Given the description of an element on the screen output the (x, y) to click on. 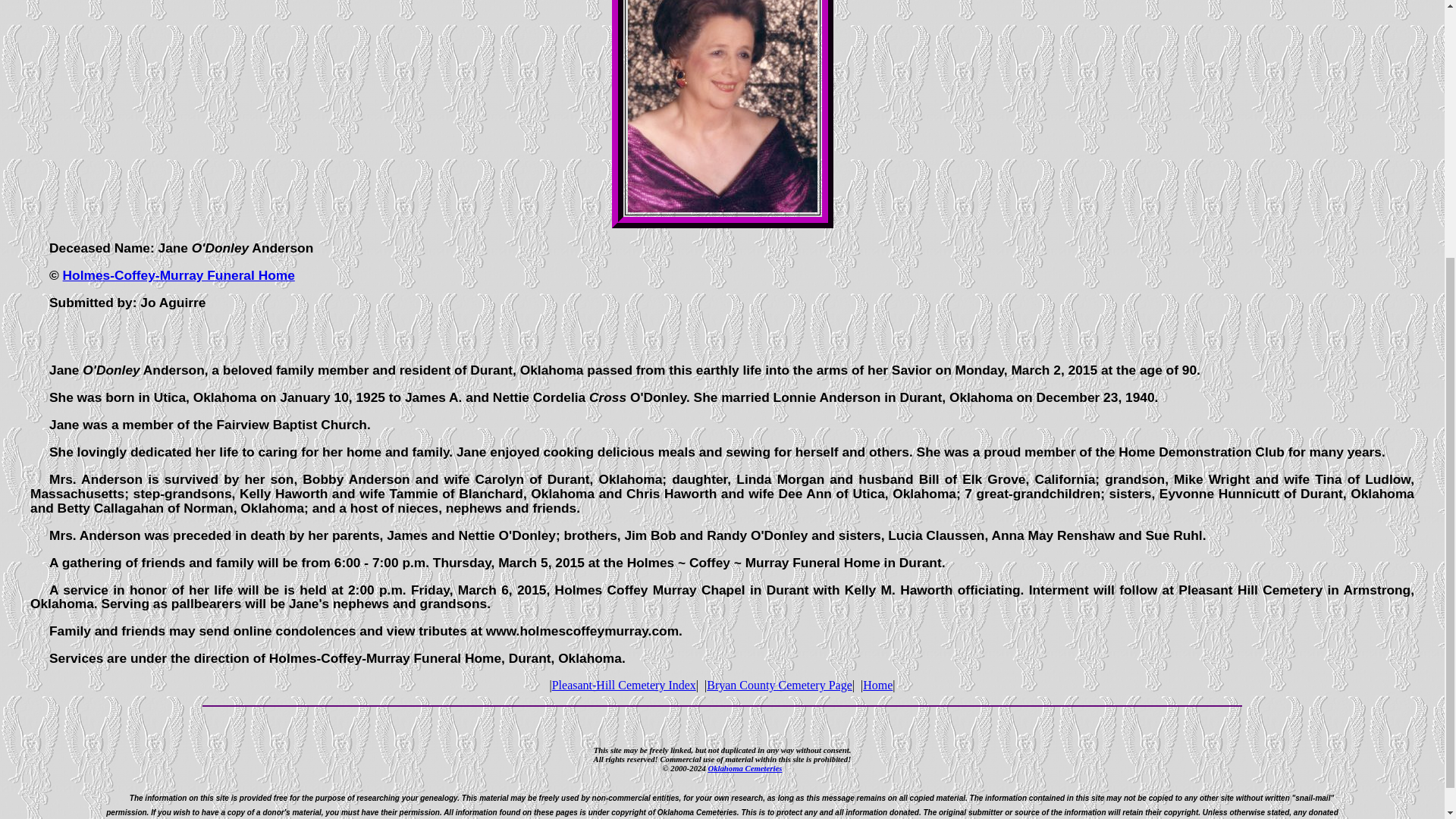
Home (877, 684)
Oklahoma Cemeteries (744, 768)
Bryan County Cemetery Page (778, 684)
Pleasant-Hill Cemetery Index (623, 684)
Holmes-Coffey-Murray Funeral Home (178, 274)
